Given the description of an element on the screen output the (x, y) to click on. 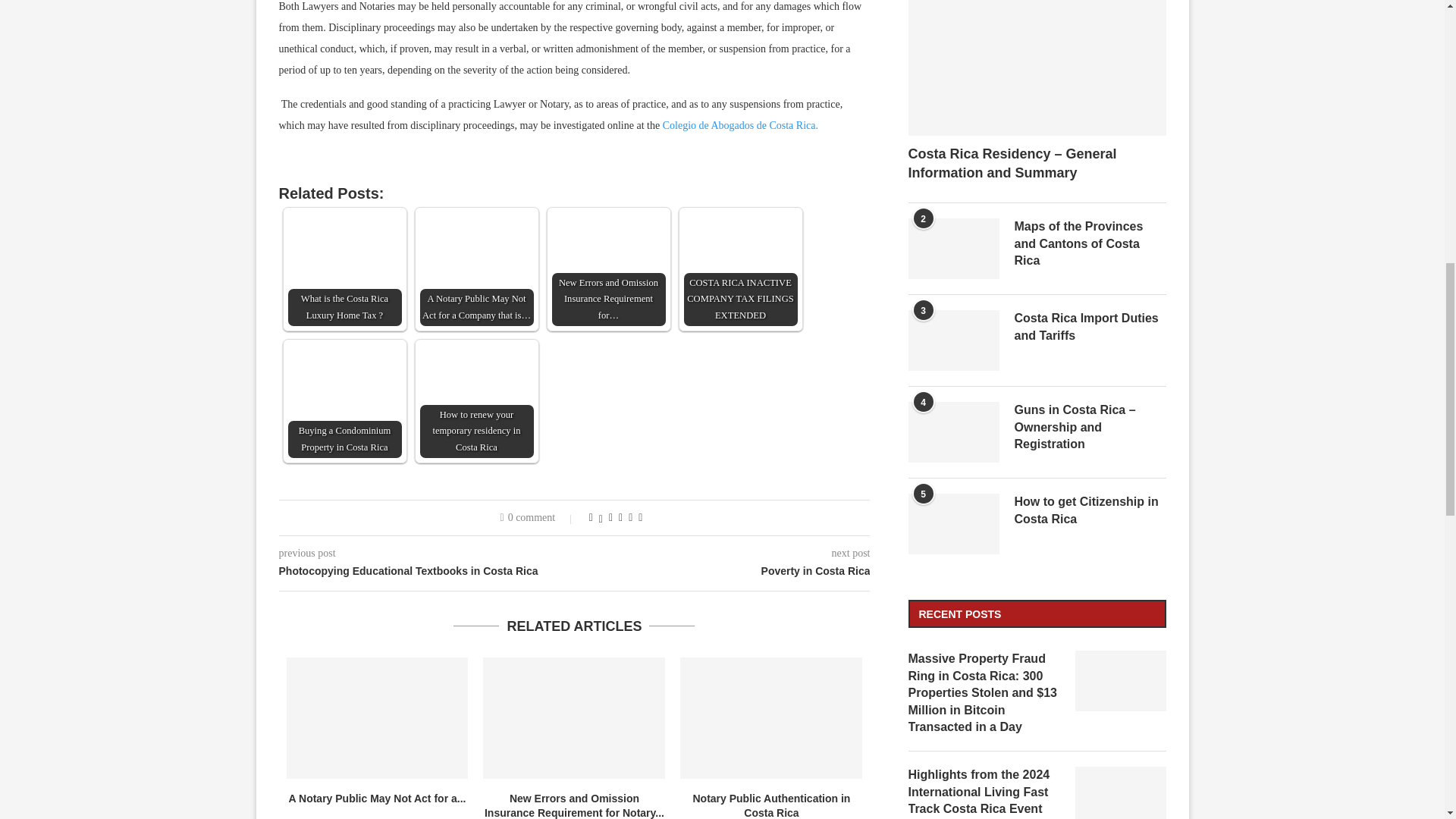
Notary Public Authentication in Costa Rica (770, 717)
